Given the description of an element on the screen output the (x, y) to click on. 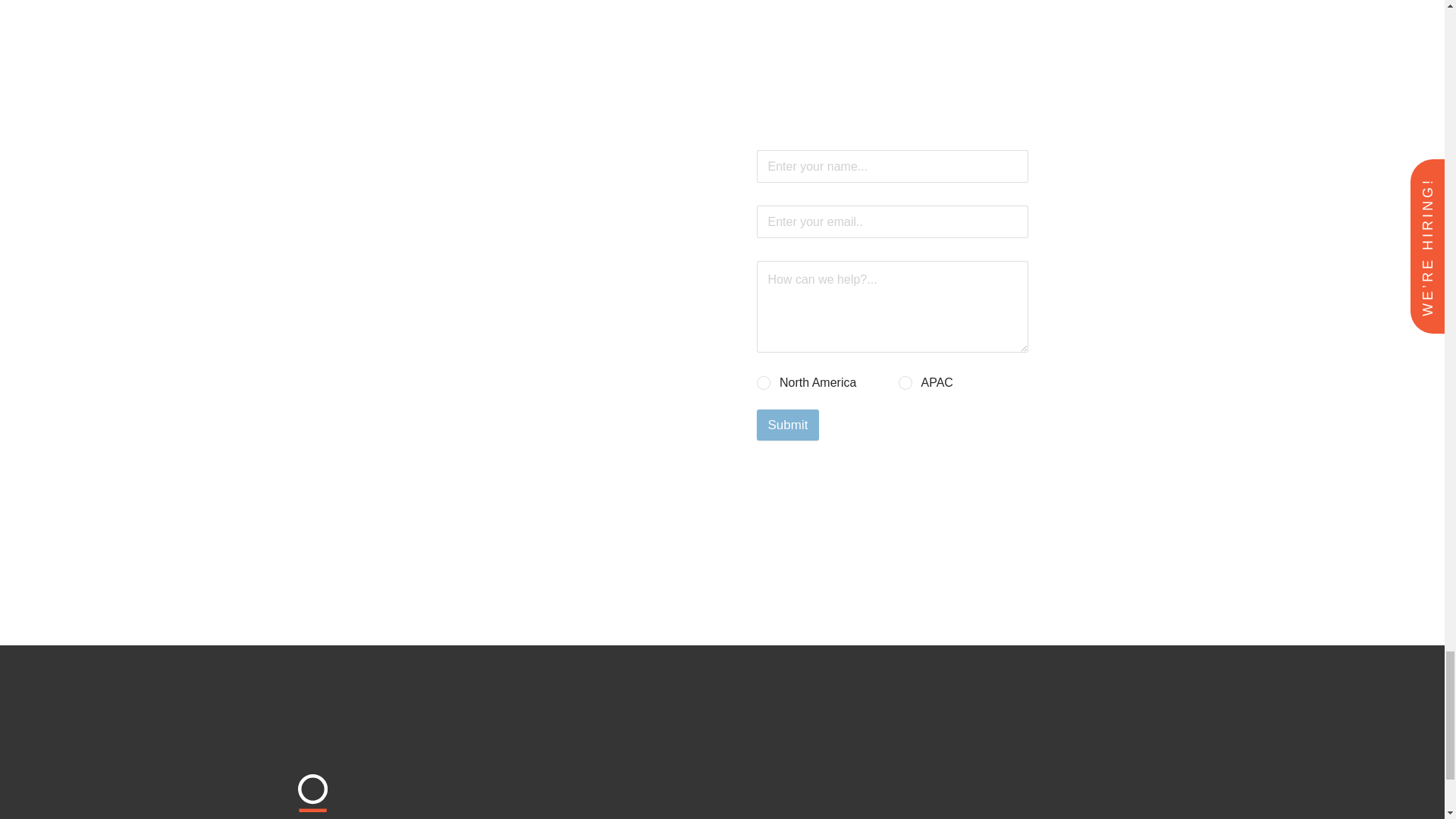
North America (764, 382)
Submit (788, 424)
APAC (905, 382)
Orange Line (397, 810)
